Given the description of an element on the screen output the (x, y) to click on. 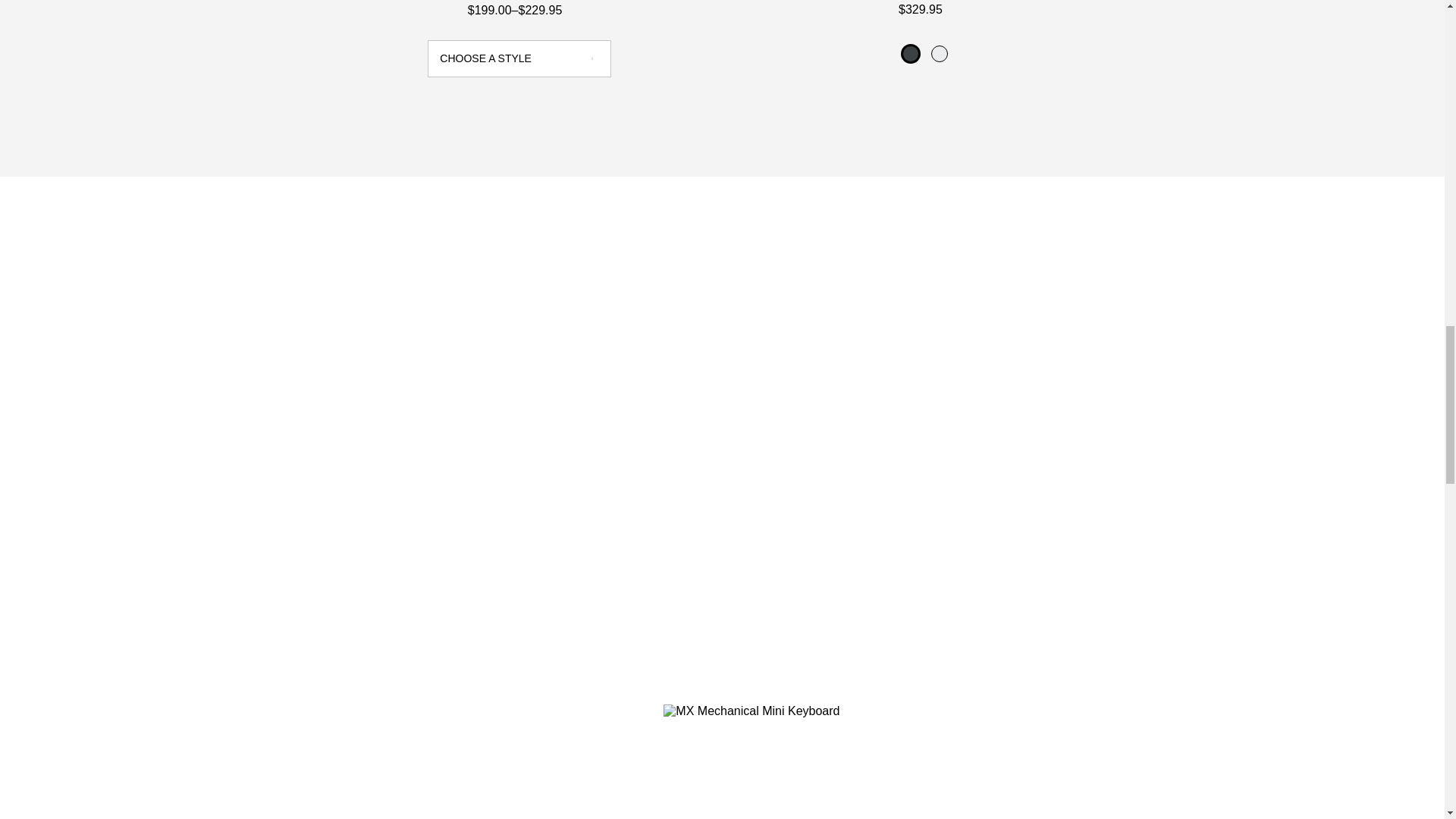
Pale Gray (938, 53)
Graphite (910, 53)
